Given the description of an element on the screen output the (x, y) to click on. 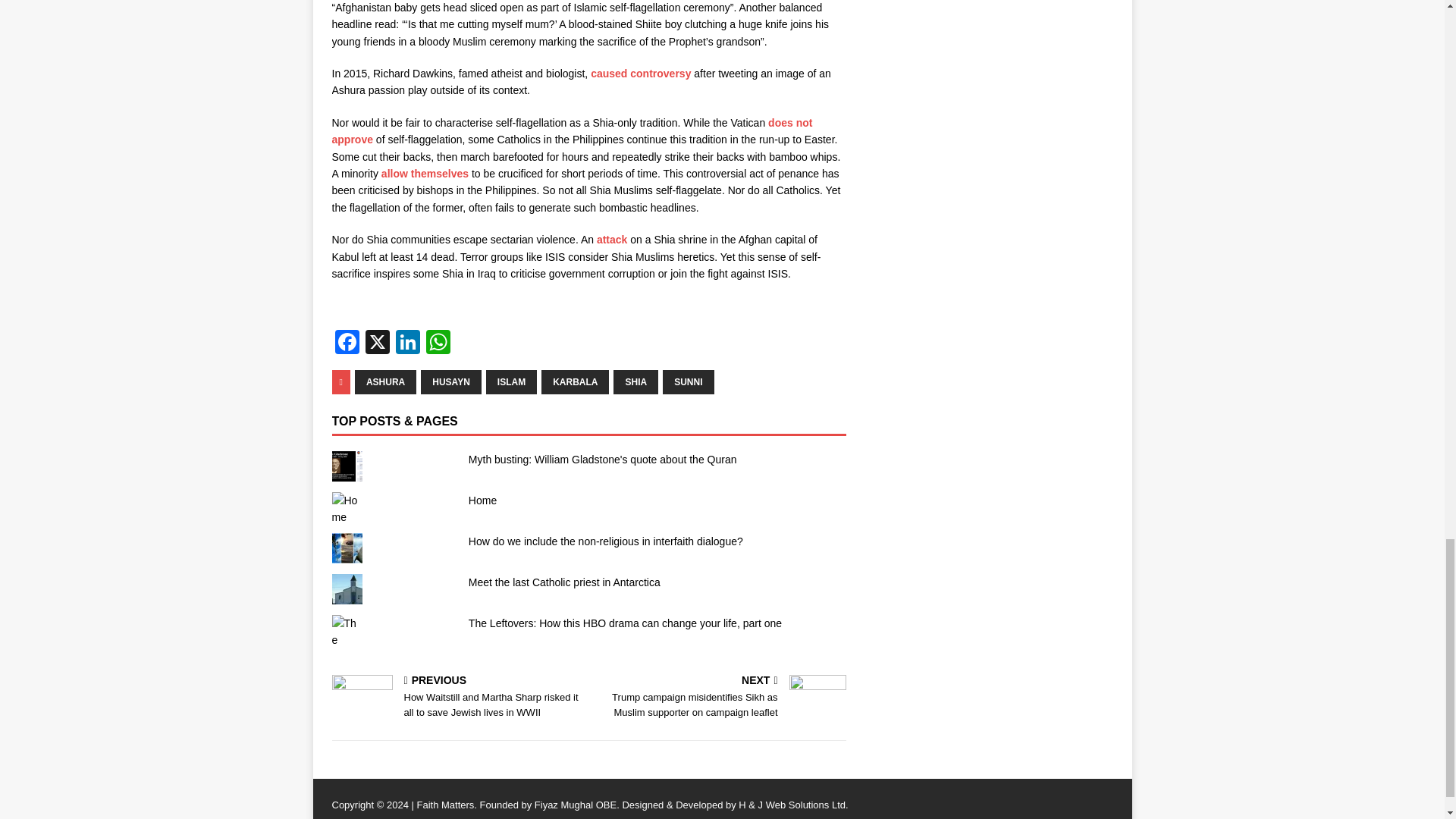
Facebook (346, 343)
WhatsApp (437, 343)
LinkedIn (408, 343)
Myth busting: William Gladstone's quote about the Quran (602, 459)
Home (482, 500)
How do we include the non-religious in interfaith dialogue? (605, 541)
X (377, 343)
